Given the description of an element on the screen output the (x, y) to click on. 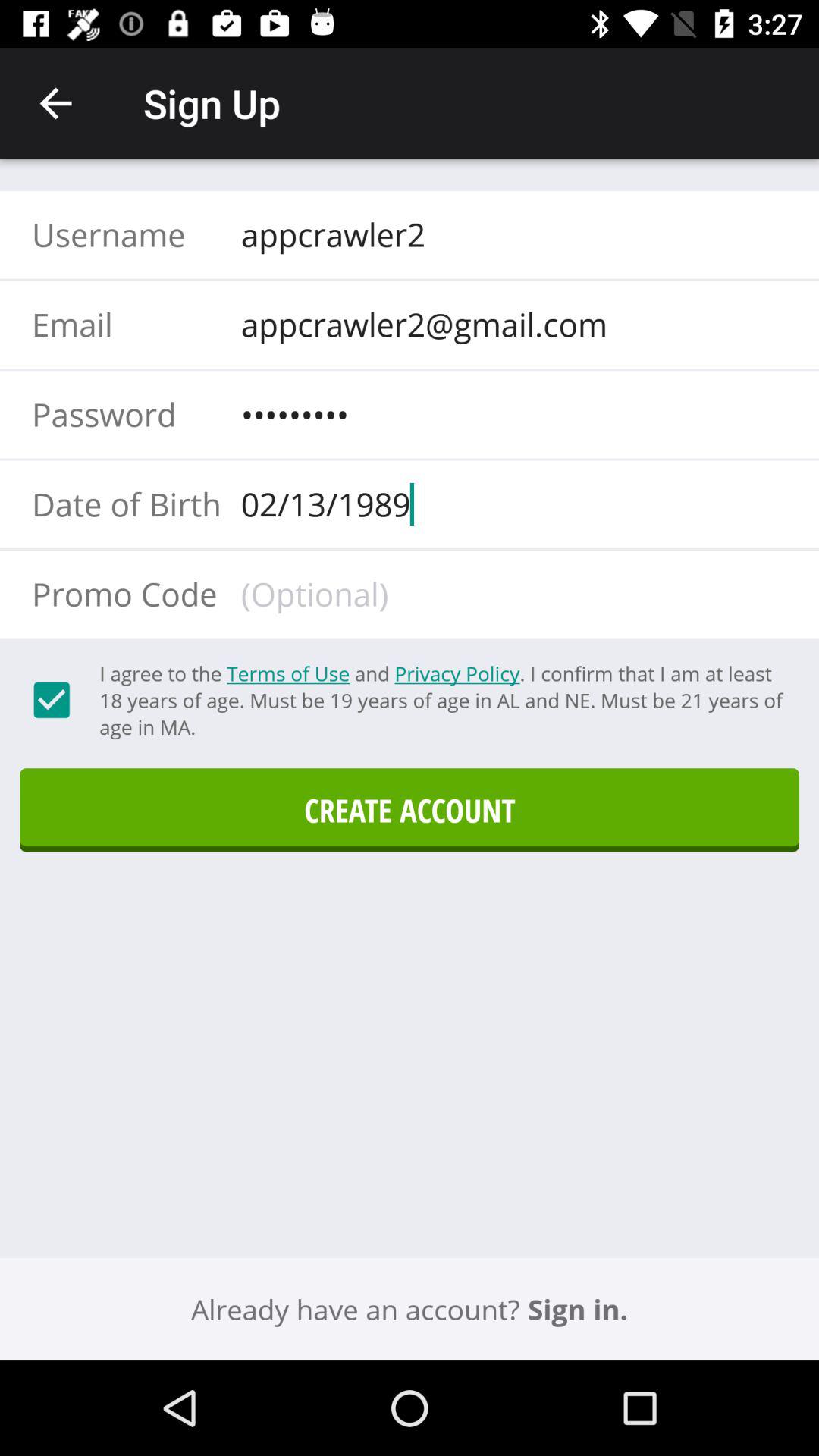
select icon above crowd3116 icon (508, 324)
